Given the description of an element on the screen output the (x, y) to click on. 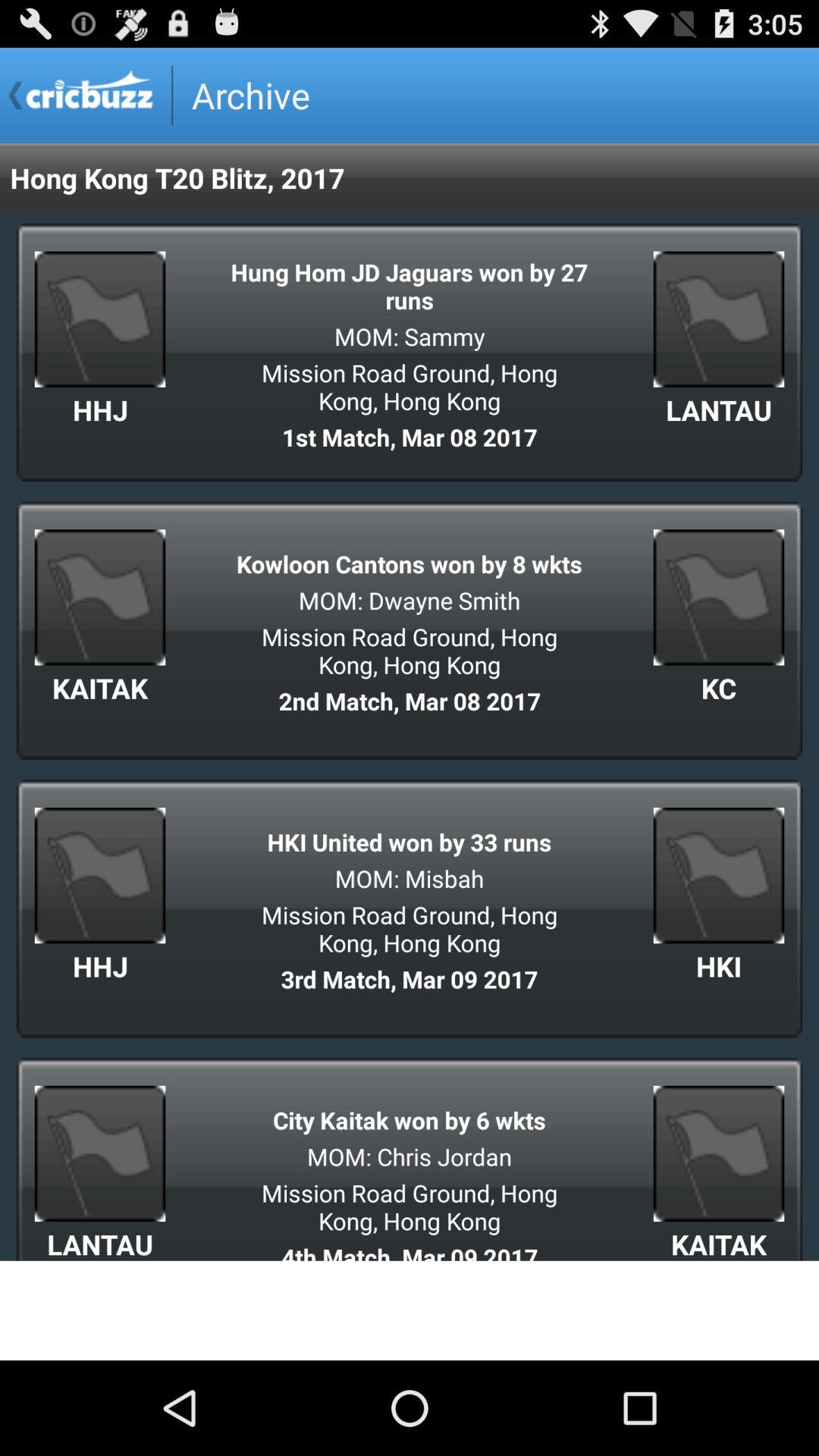
press the app next to the mission road ground item (718, 687)
